Given the description of an element on the screen output the (x, y) to click on. 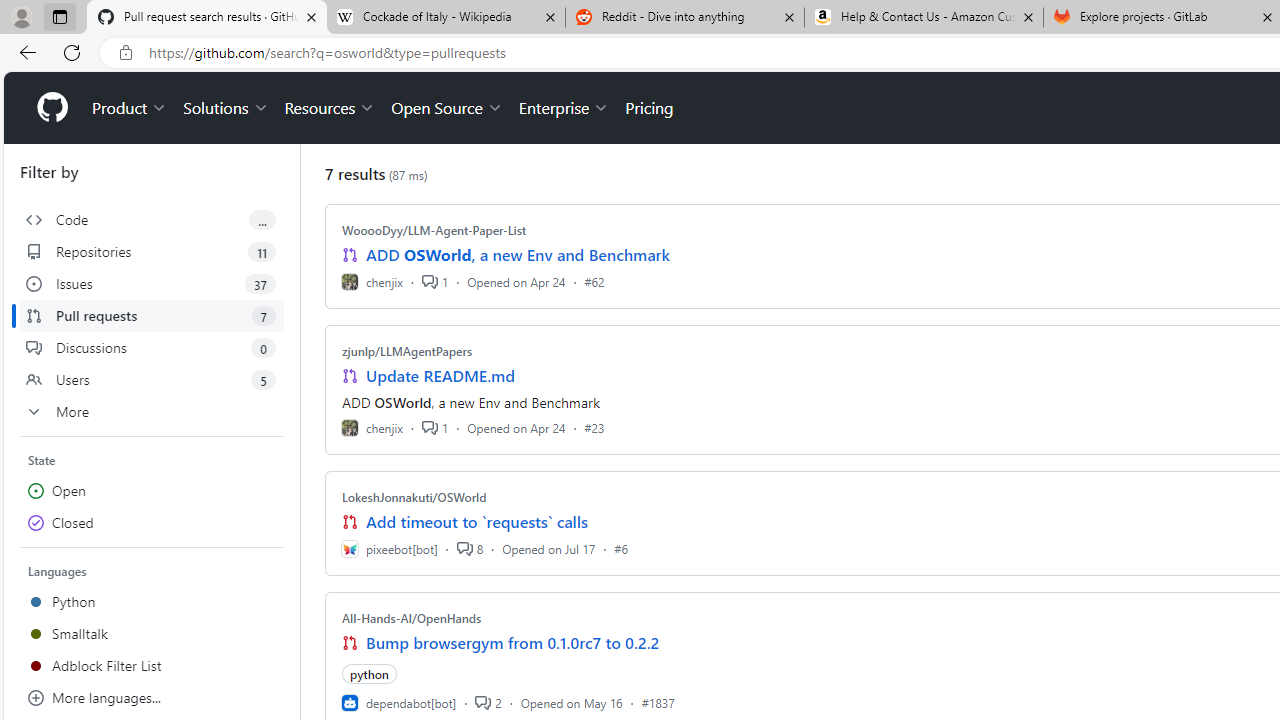
More (152, 411)
Update README.md (440, 376)
More languages... (152, 697)
#23 (594, 427)
Cockade of Italy - Wikipedia (445, 17)
More languages... (152, 697)
